Given the description of an element on the screen output the (x, y) to click on. 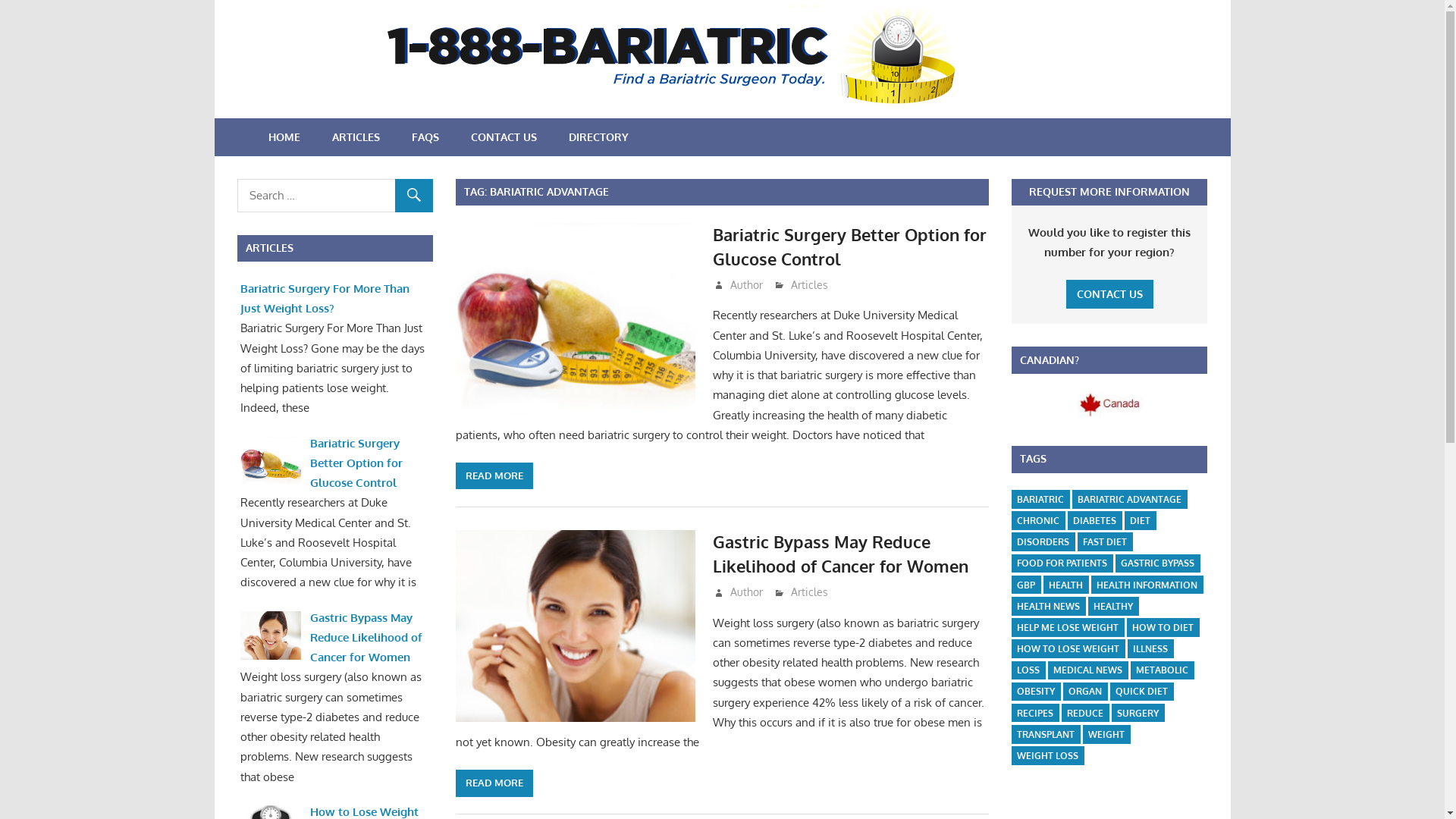
ORGAN Element type: text (1085, 691)
DIABETES Element type: text (1094, 520)
LOSS Element type: text (1027, 670)
Articles Element type: text (809, 591)
FOOD FOR PATIENTS Element type: text (1061, 563)
CONTACT US Element type: text (503, 137)
FAQS Element type: text (425, 137)
GASTRIC BYPASS Element type: text (1157, 563)
Author Element type: text (746, 284)
CONTACT US Element type: text (1109, 293)
Articles Element type: text (809, 284)
Bariatric Surgery Better Option for Glucose Control Element type: text (849, 246)
HOME Element type: text (283, 137)
OBESITY Element type: text (1035, 691)
DIET Element type: text (1139, 520)
ARTICLES Element type: text (355, 137)
March 2, 2011 Element type: text (758, 284)
Gastric Bypass May Reduce Likelihood of Cancer for Women Element type: text (366, 637)
MEDICAL NEWS Element type: text (1087, 670)
Bariatric Surgery For More Than Just Weight Loss? Element type: text (324, 298)
HEALTH NEWS Element type: text (1048, 605)
DISORDERS Element type: text (1042, 541)
SURGERY Element type: text (1137, 712)
HOW TO LOSE WEIGHT Element type: text (1067, 648)
HEALTHY Element type: text (1113, 605)
READ MORE Element type: text (494, 783)
HEALTH Element type: text (1065, 584)
FAST DIET Element type: text (1104, 541)
Bariatric Surgery Better Option for Glucose Control Element type: text (356, 463)
METABOLIC Element type: text (1161, 670)
QUICK DIET Element type: text (1141, 691)
REDUCE Element type: text (1084, 712)
CONTACT US Element type: text (1109, 294)
March 2, 2011 Element type: text (758, 591)
GBP Element type: text (1025, 584)
HEALTH INFORMATION Element type: text (1146, 584)
Gastric Bypass May Reduce Likelihood of Cancer for Women Element type: text (840, 553)
Search for: Element type: hover (334, 195)
WEIGHT LOSS Element type: text (1047, 755)
CHRONIC Element type: text (1037, 520)
Author Element type: text (746, 591)
WEIGHT Element type: text (1105, 733)
HOW TO DIET Element type: text (1162, 627)
READ MORE Element type: text (494, 475)
DIRECTORY Element type: text (597, 137)
HELP ME LOSE WEIGHT Element type: text (1067, 627)
BARIATRIC Element type: text (1040, 498)
ILLNESS Element type: text (1150, 648)
BARIATRIC ADVANTAGE Element type: text (1129, 498)
TRANSPLANT Element type: text (1045, 733)
RECIPES Element type: text (1034, 712)
